Given the description of an element on the screen output the (x, y) to click on. 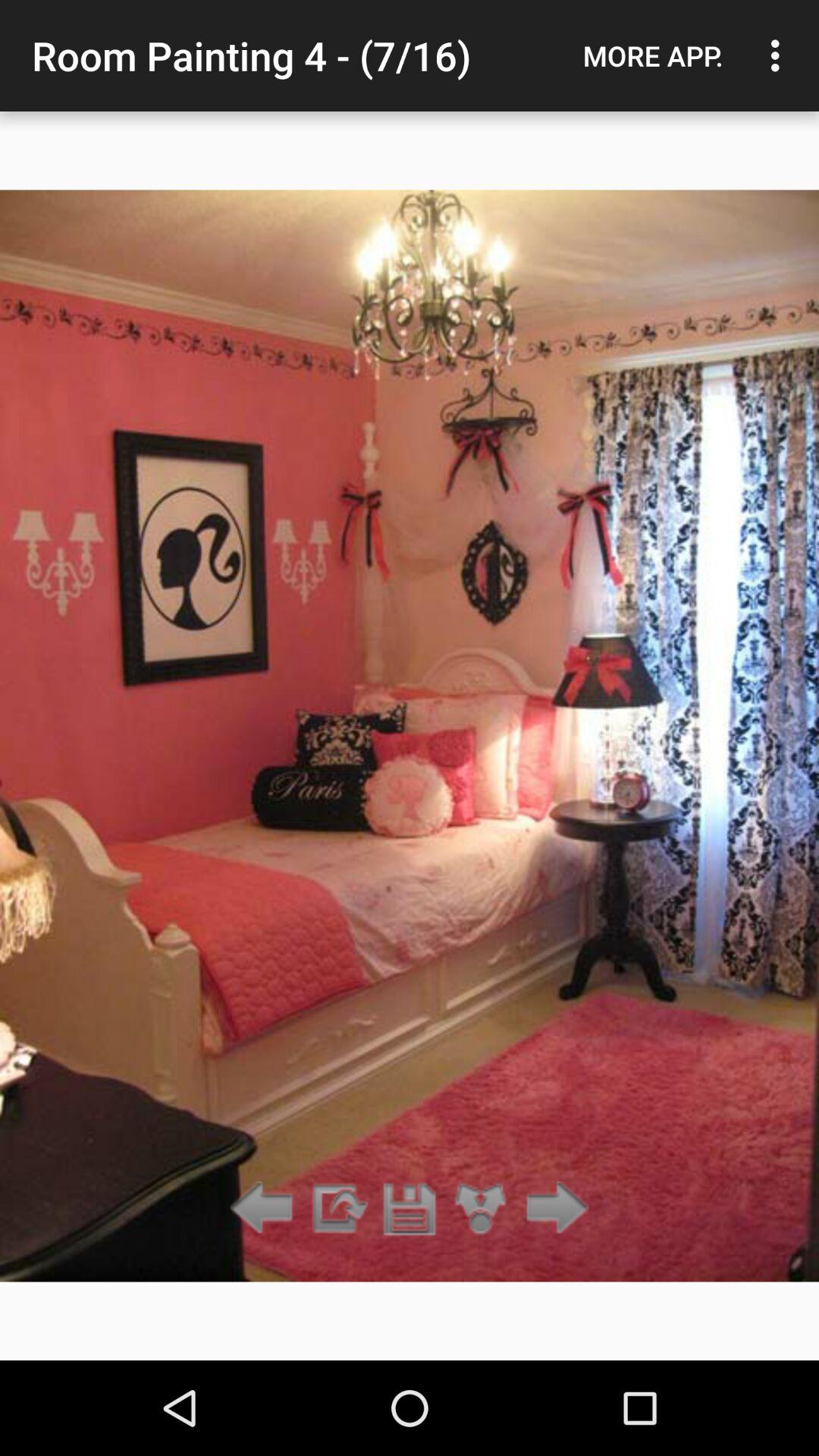
go to next (266, 1209)
